Given the description of an element on the screen output the (x, y) to click on. 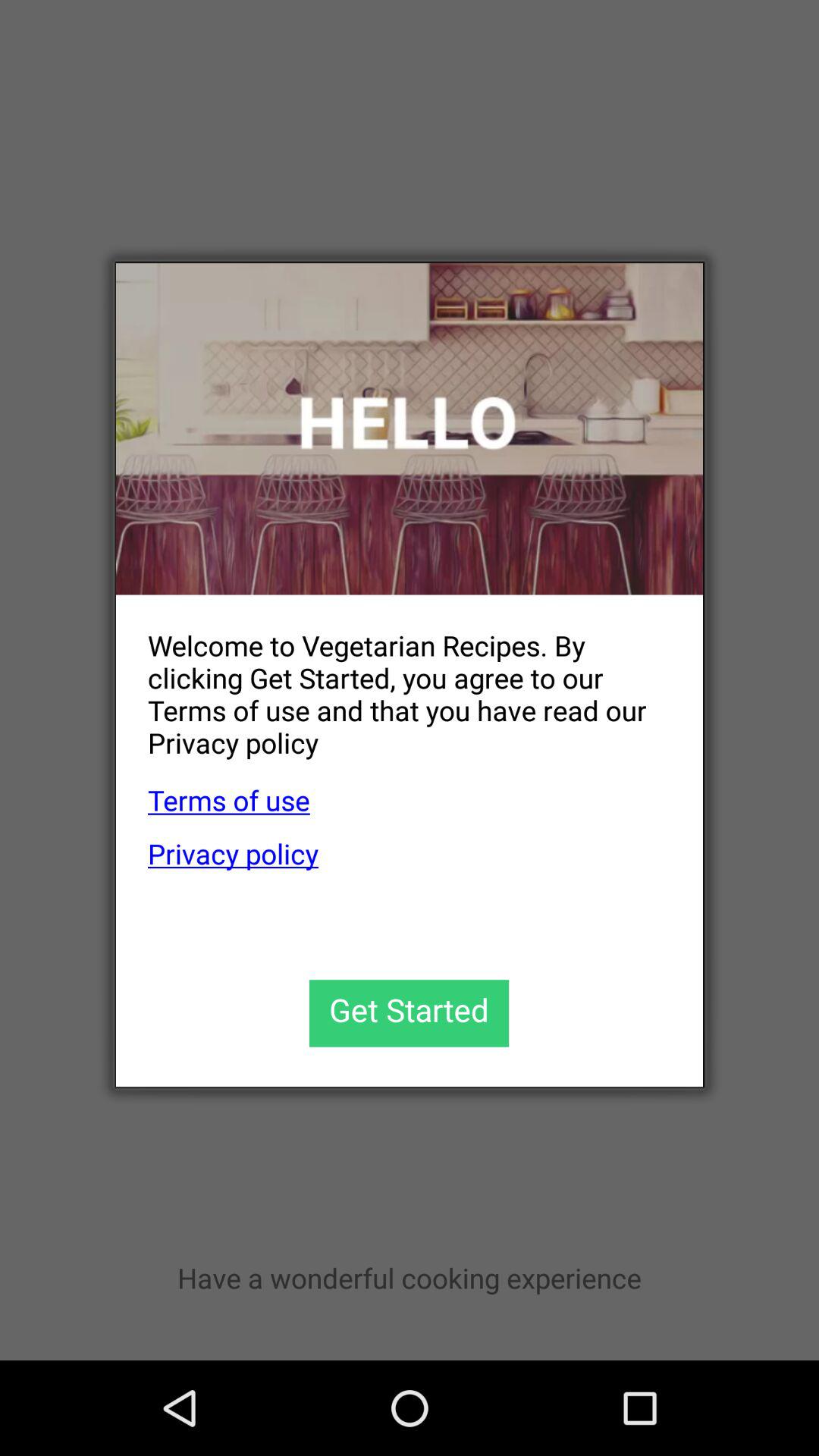
turn on the icon above welcome to vegetarian item (409, 428)
